Given the description of an element on the screen output the (x, y) to click on. 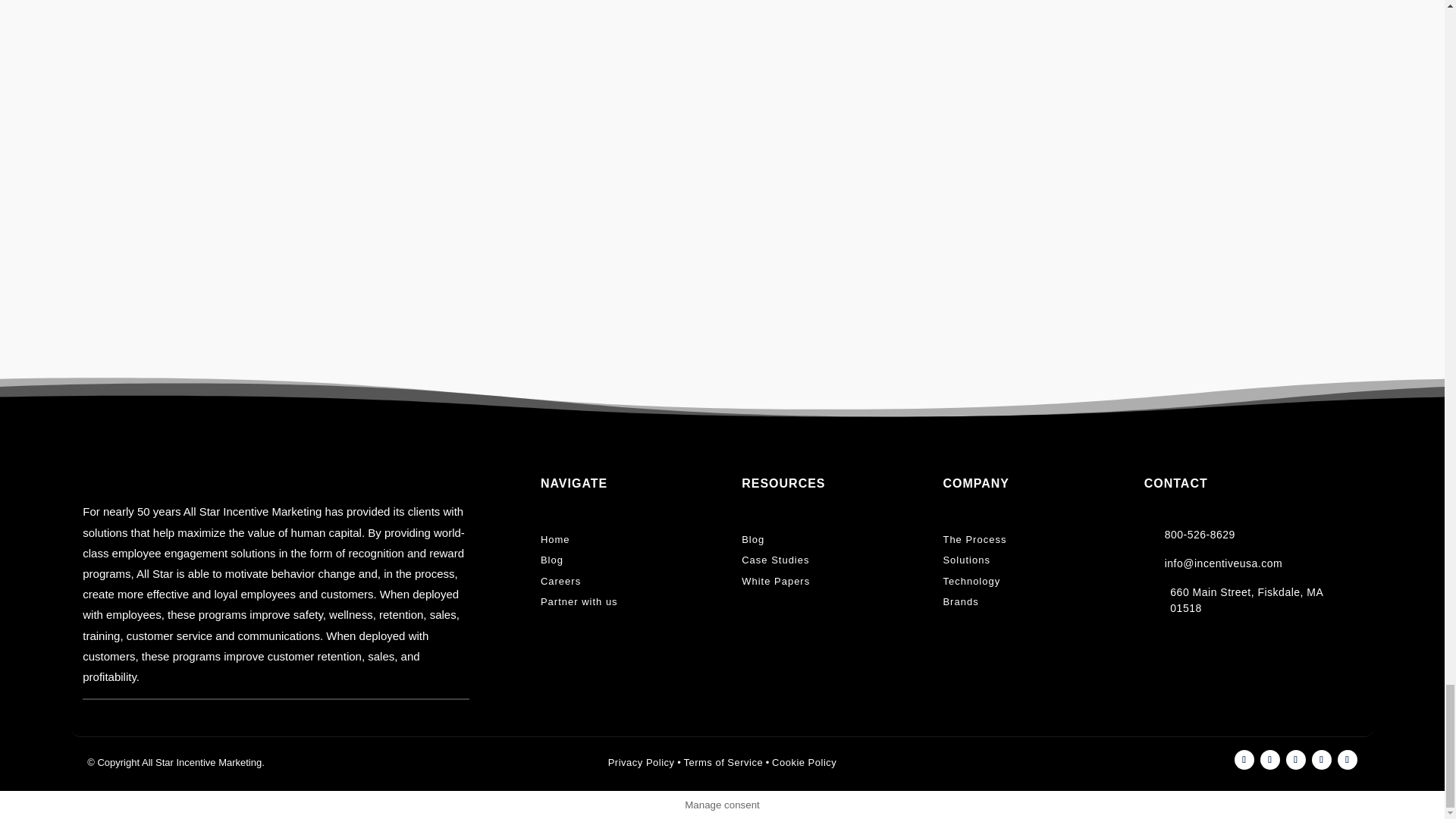
Follow on Youtube (1347, 759)
Blog (752, 540)
Follow on LinkedIn (1243, 759)
Follow on X (1321, 759)
All Star Incentive Marketing Logo (161, 469)
Follow on Facebook (1269, 759)
Follow on Instagram (1295, 759)
